Given the description of an element on the screen output the (x, y) to click on. 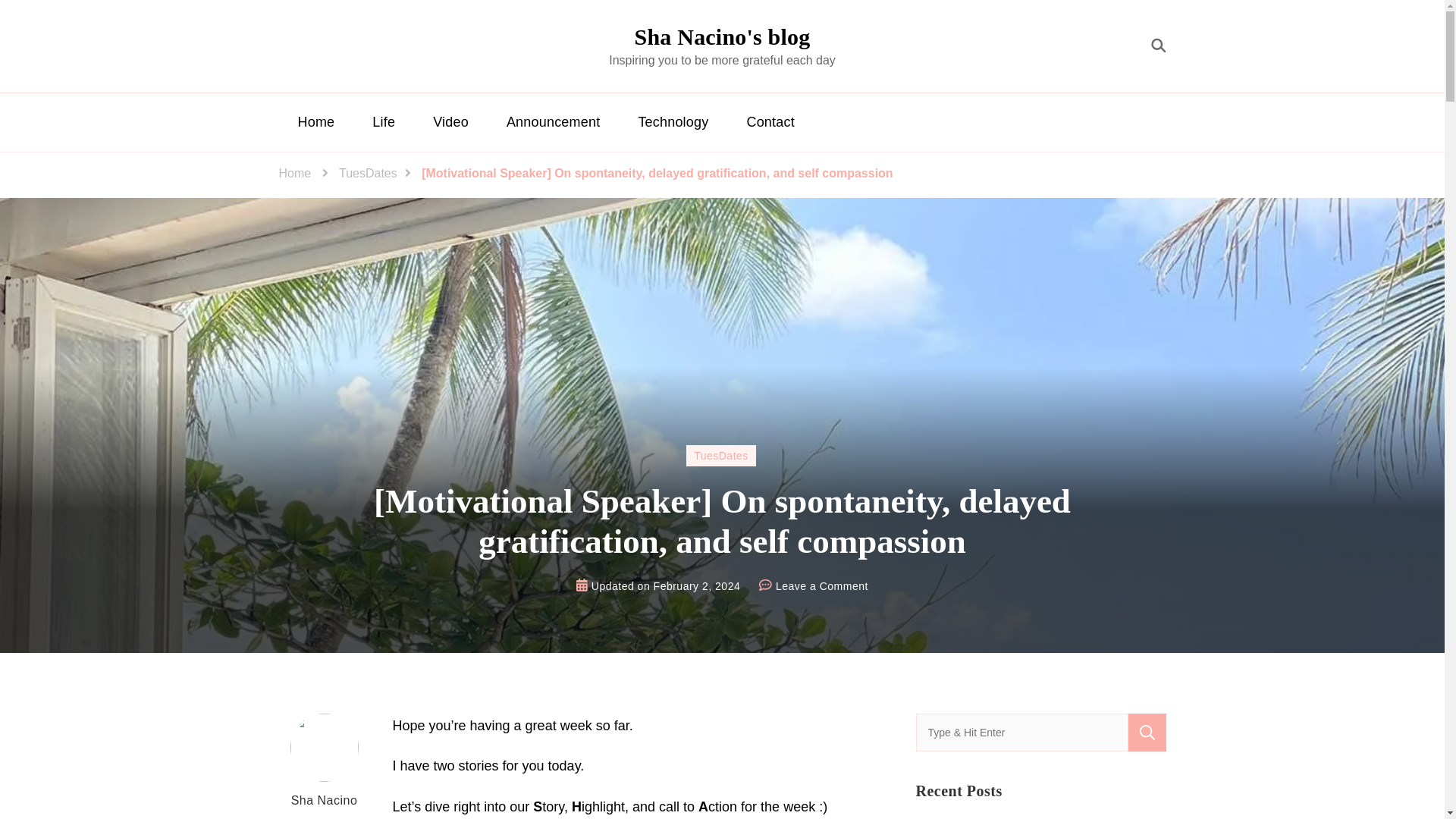
February 2, 2024 (697, 586)
Home (295, 173)
Contact (769, 121)
Announcement (553, 121)
TuesDates (368, 173)
TuesDates (720, 455)
Search (1147, 732)
Technology (672, 121)
Life (383, 121)
Sha Nacino (324, 762)
